Given the description of an element on the screen output the (x, y) to click on. 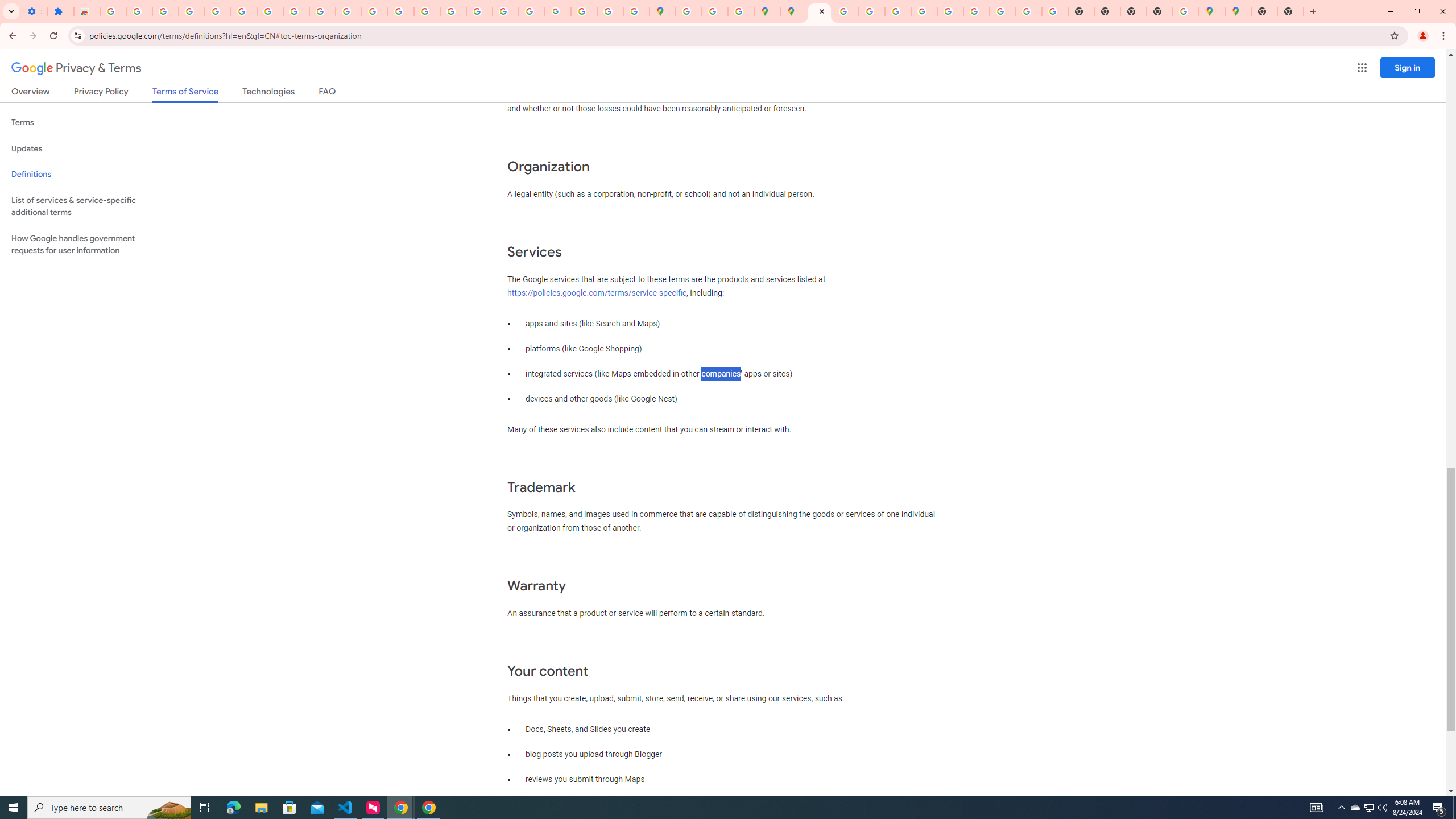
YouTube (949, 11)
Privacy & Terms (76, 68)
New Tab (1290, 11)
https://policies.google.com/terms/service-specific (596, 292)
Reviews: Helix Fruit Jump Arcade Game (86, 11)
Settings - On startup (34, 11)
